Given the description of an element on the screen output the (x, y) to click on. 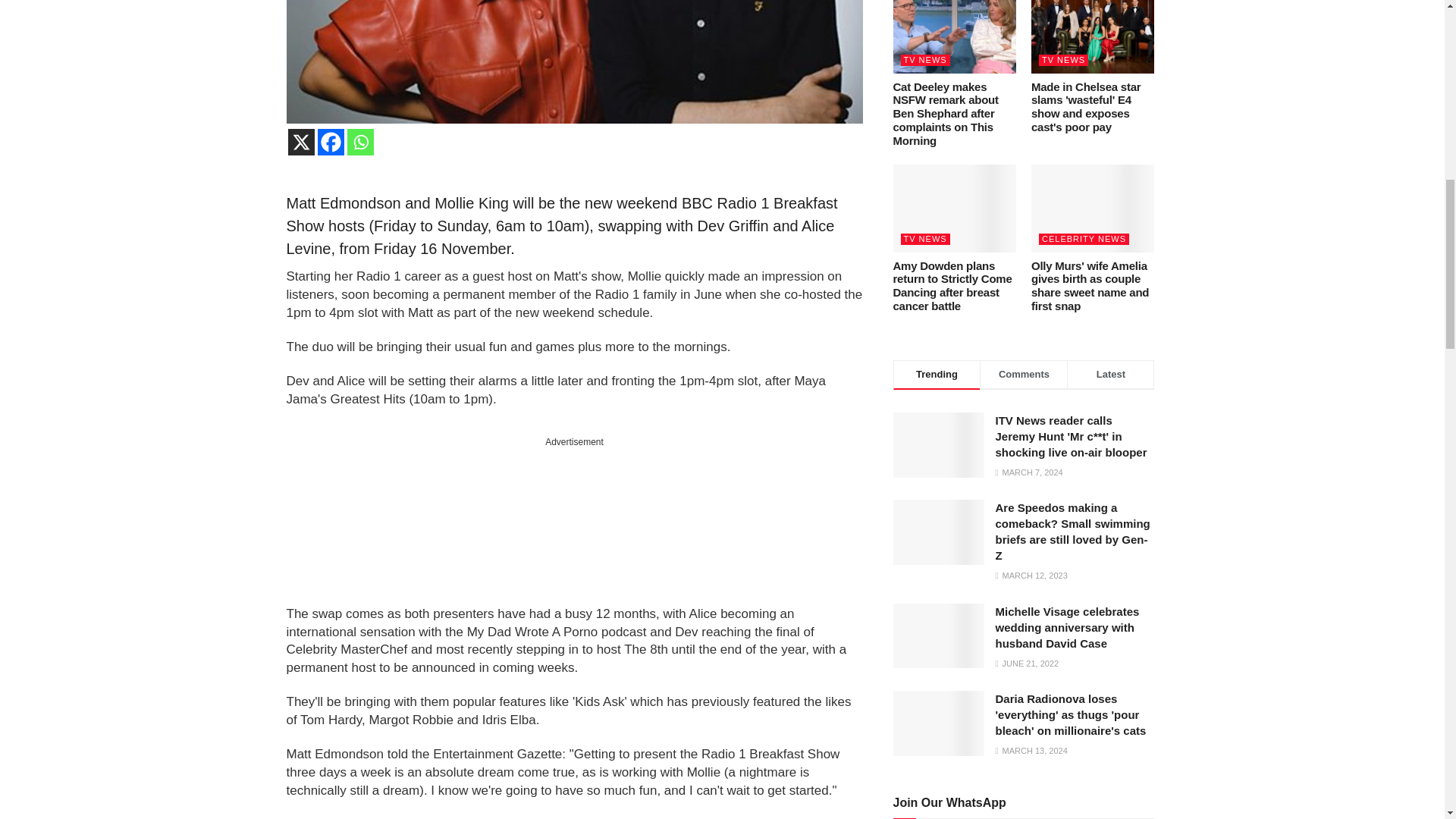
X (301, 141)
Advertisement (574, 523)
Whatsapp (360, 141)
Facebook (330, 141)
